Given the description of an element on the screen output the (x, y) to click on. 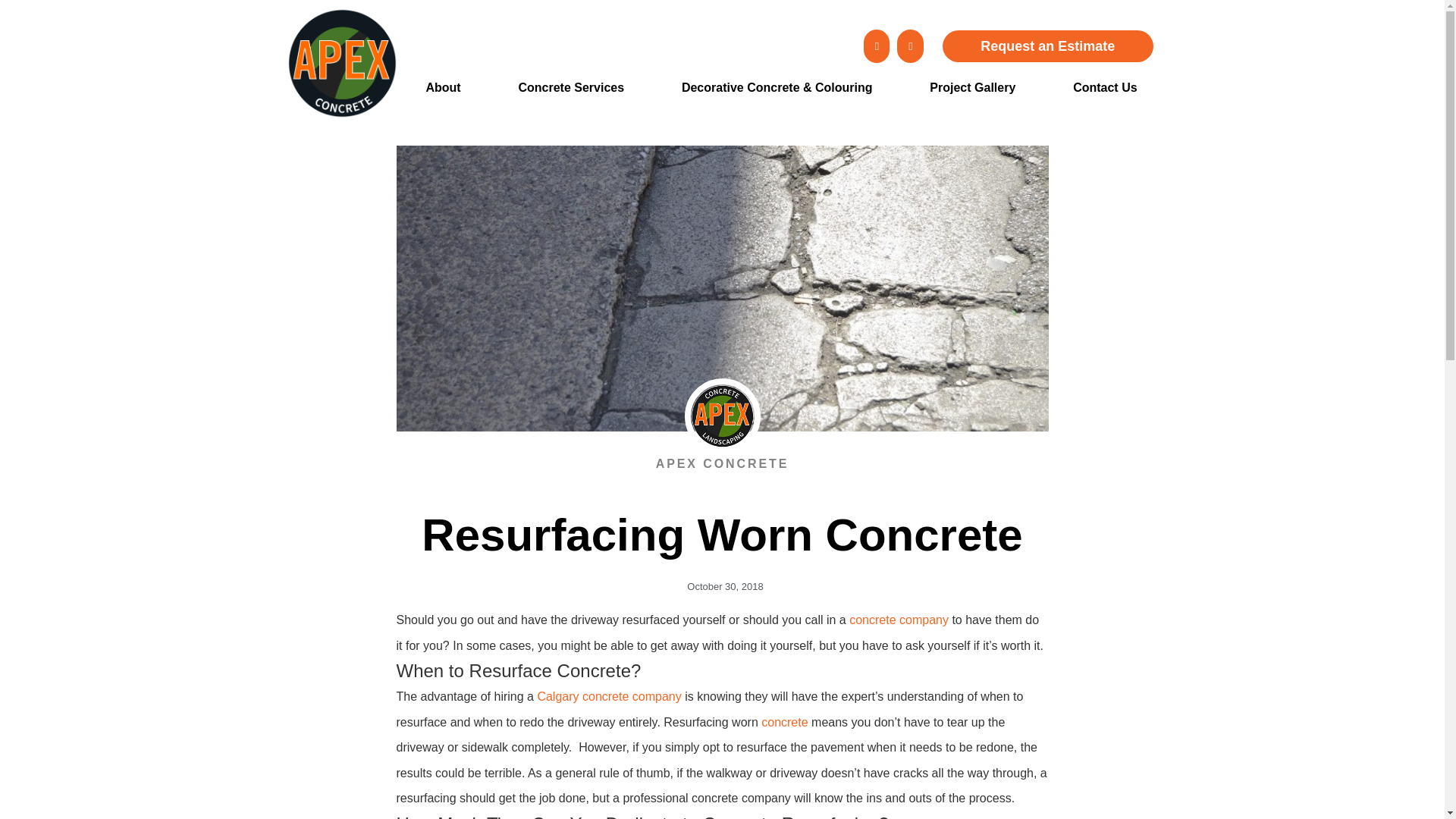
About (443, 86)
Request an Estimate (1047, 46)
